Given the description of an element on the screen output the (x, y) to click on. 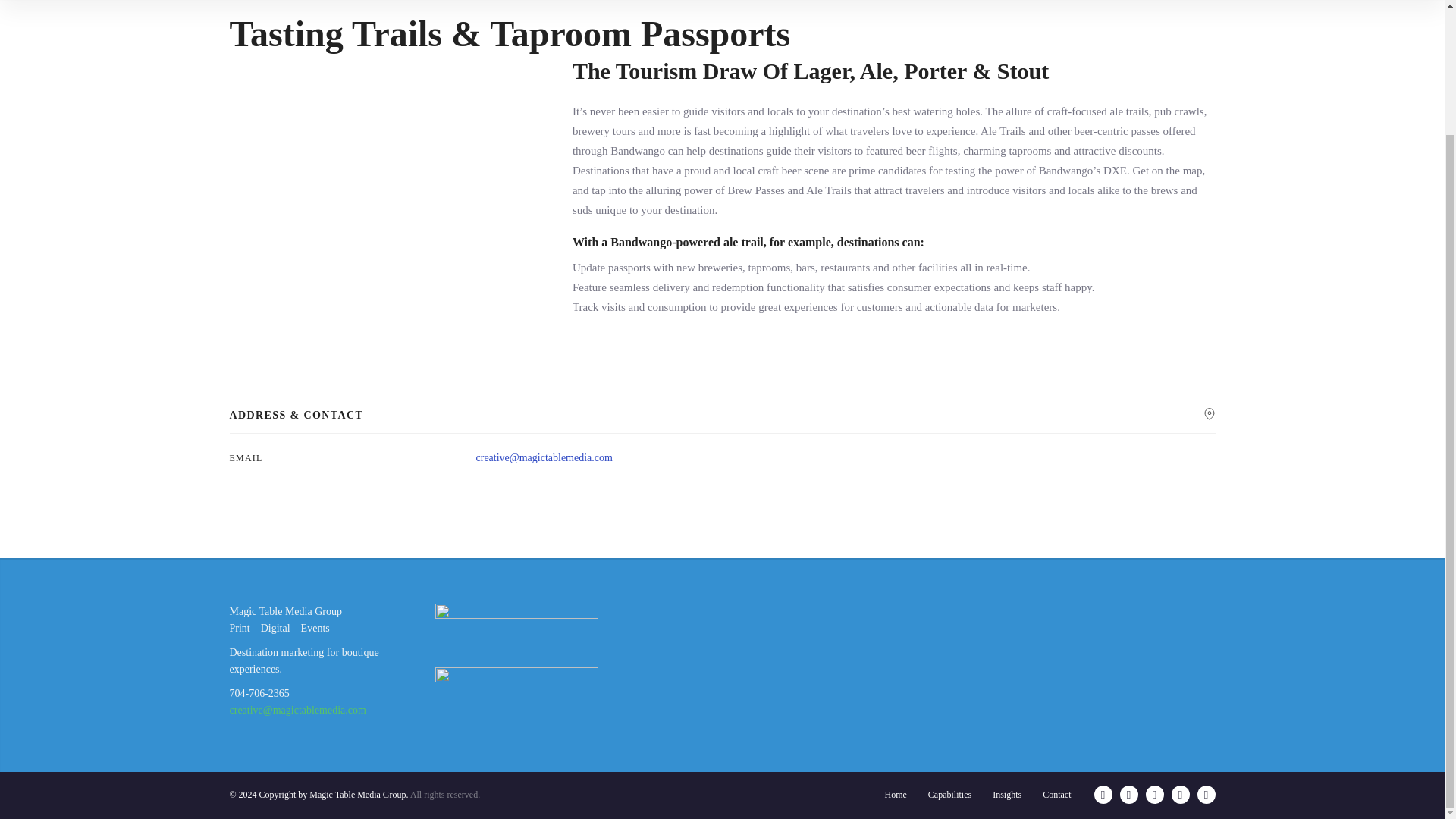
Contact (1056, 794)
Home (894, 794)
Insights (1007, 794)
Capabilities (949, 794)
